Given the description of an element on the screen output the (x, y) to click on. 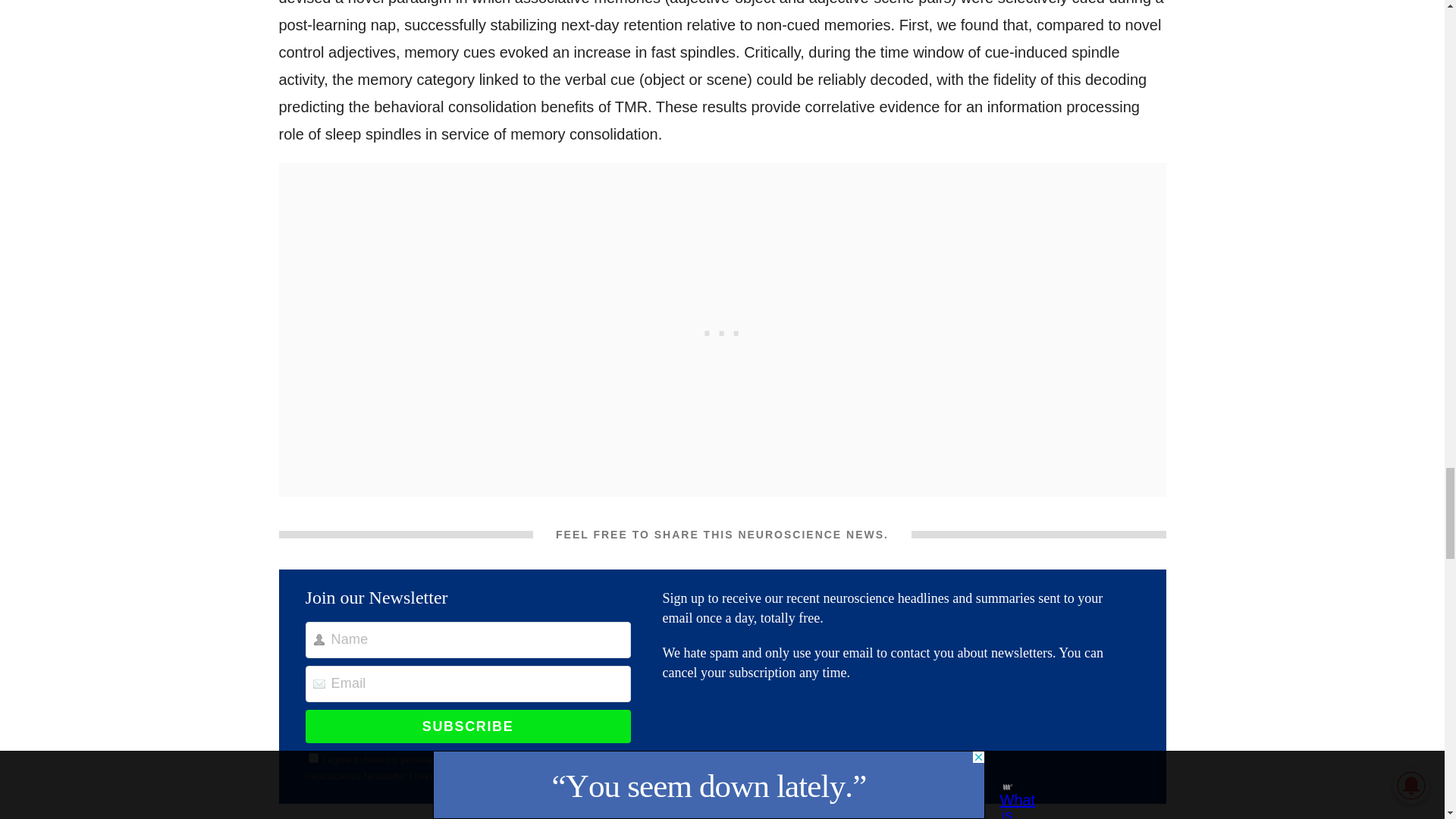
more information (448, 776)
SUBSCRIBE (467, 726)
SUBSCRIBE (467, 726)
on (313, 757)
